Given the description of an element on the screen output the (x, y) to click on. 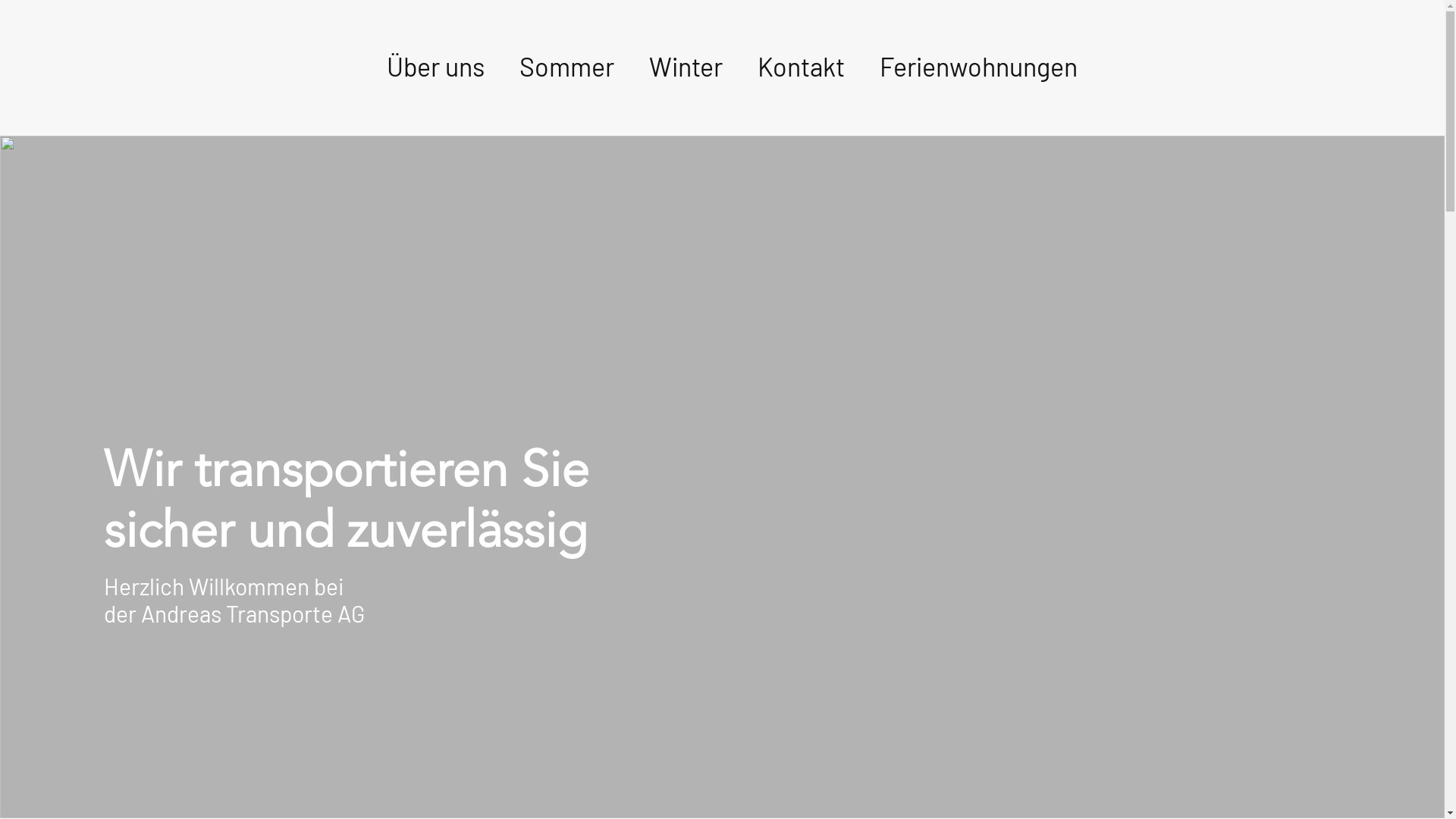
Winter Element type: text (685, 66)
Kontakt Element type: text (801, 66)
Sommer Element type: text (566, 66)
Ferienwohnungen Element type: text (978, 66)
